Given the description of an element on the screen output the (x, y) to click on. 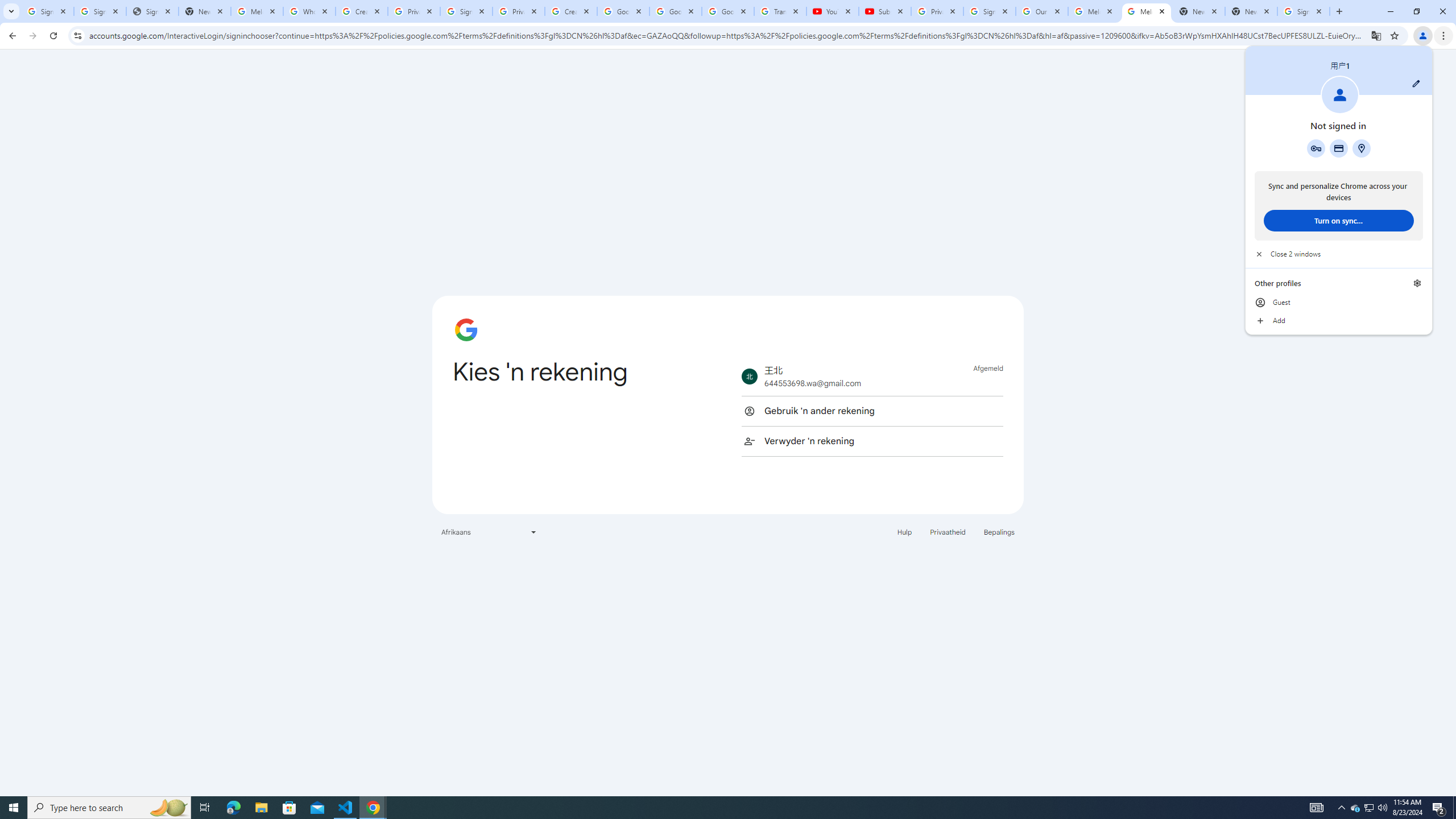
Type here to search (108, 807)
Sign in - Google Accounts (989, 11)
Google Chrome - 2 running windows (373, 807)
Running applications (717, 807)
File Explorer (261, 807)
Show desktop (1454, 807)
Start (13, 807)
Payment methods (1338, 148)
Addresses and more (1361, 148)
Task View (204, 807)
Sign in - Google Accounts (466, 11)
Verwyder 'n rekening (871, 440)
Privaatheid (947, 531)
